Given the description of an element on the screen output the (x, y) to click on. 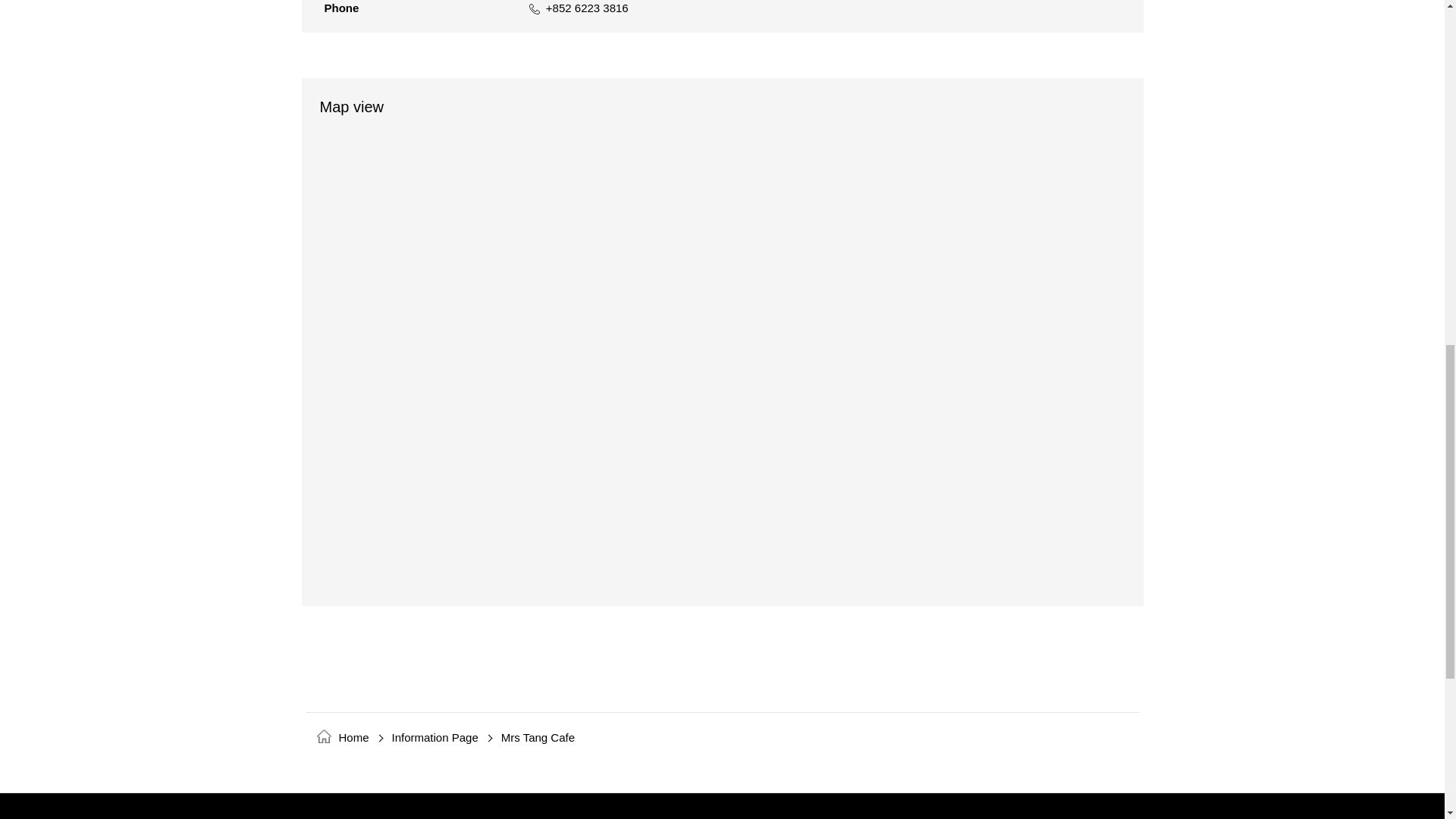
phone-handset (534, 9)
